Given the description of an element on the screen output the (x, y) to click on. 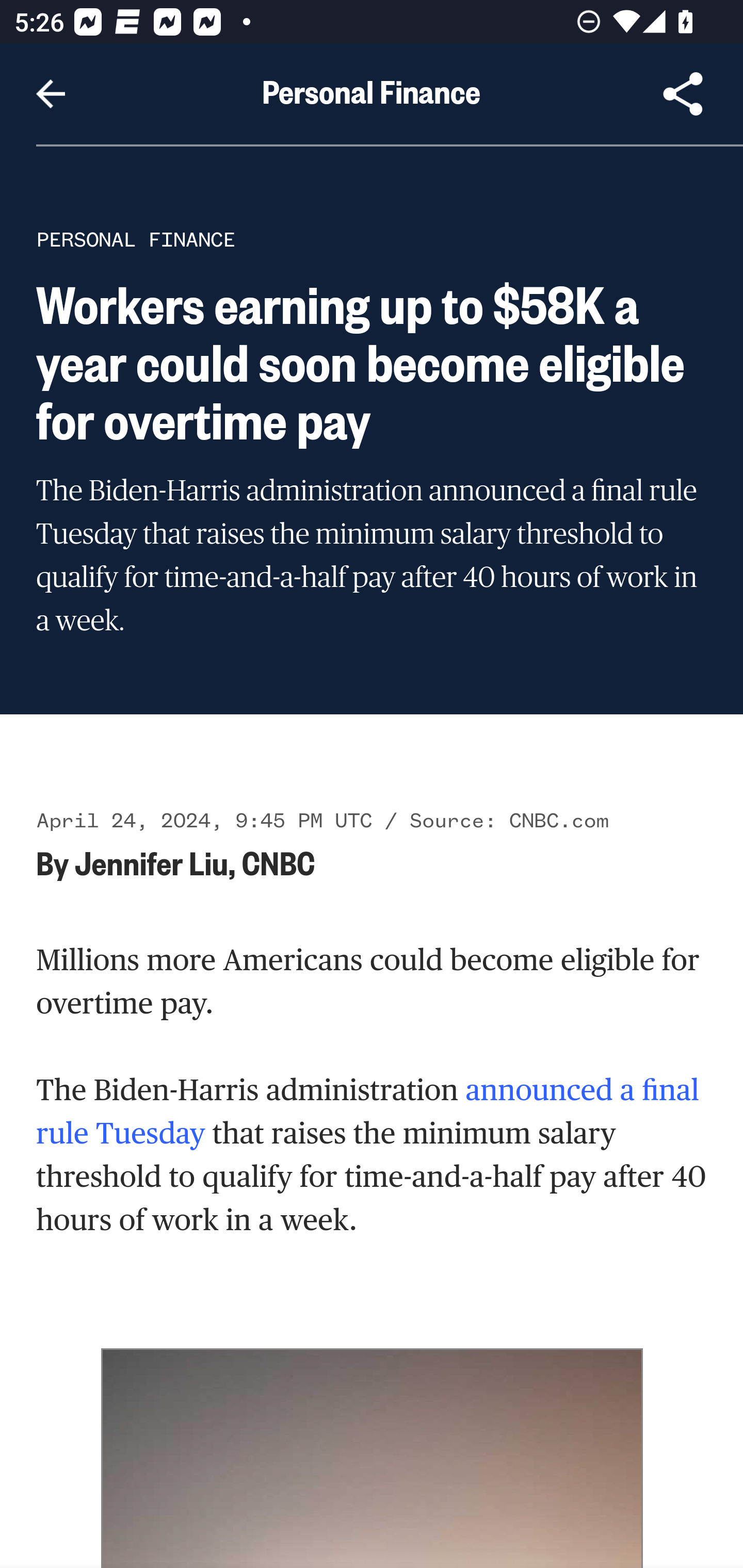
Navigate up (50, 93)
Share Article, button (683, 94)
